Given the description of an element on the screen output the (x, y) to click on. 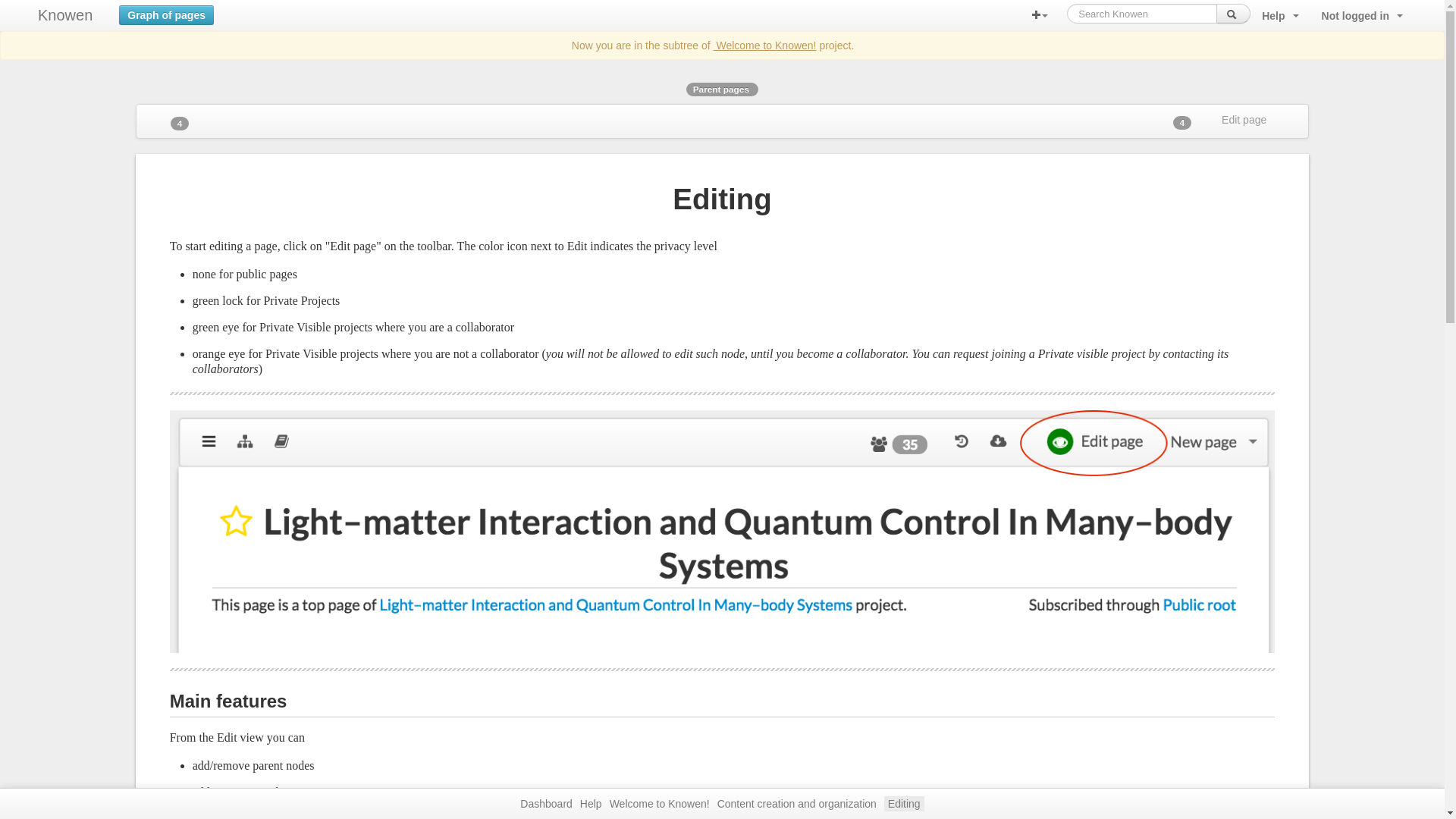
Welcome to Knowen! (764, 45)
You need to sign in or sign up to see collaborators (1182, 122)
4 (179, 123)
Open quick navigation window (236, 7)
Help (1279, 15)
History and comments (1139, 117)
Not logged in (1361, 15)
Export (207, 117)
Graph of pages (166, 12)
Knowen (65, 15)
You need to sign in or sign up to edit page (1247, 119)
Open graph of pages (166, 12)
Attachments (179, 123)
You need to sign in or sign up to receive notifications (1154, 114)
